Given the description of an element on the screen output the (x, y) to click on. 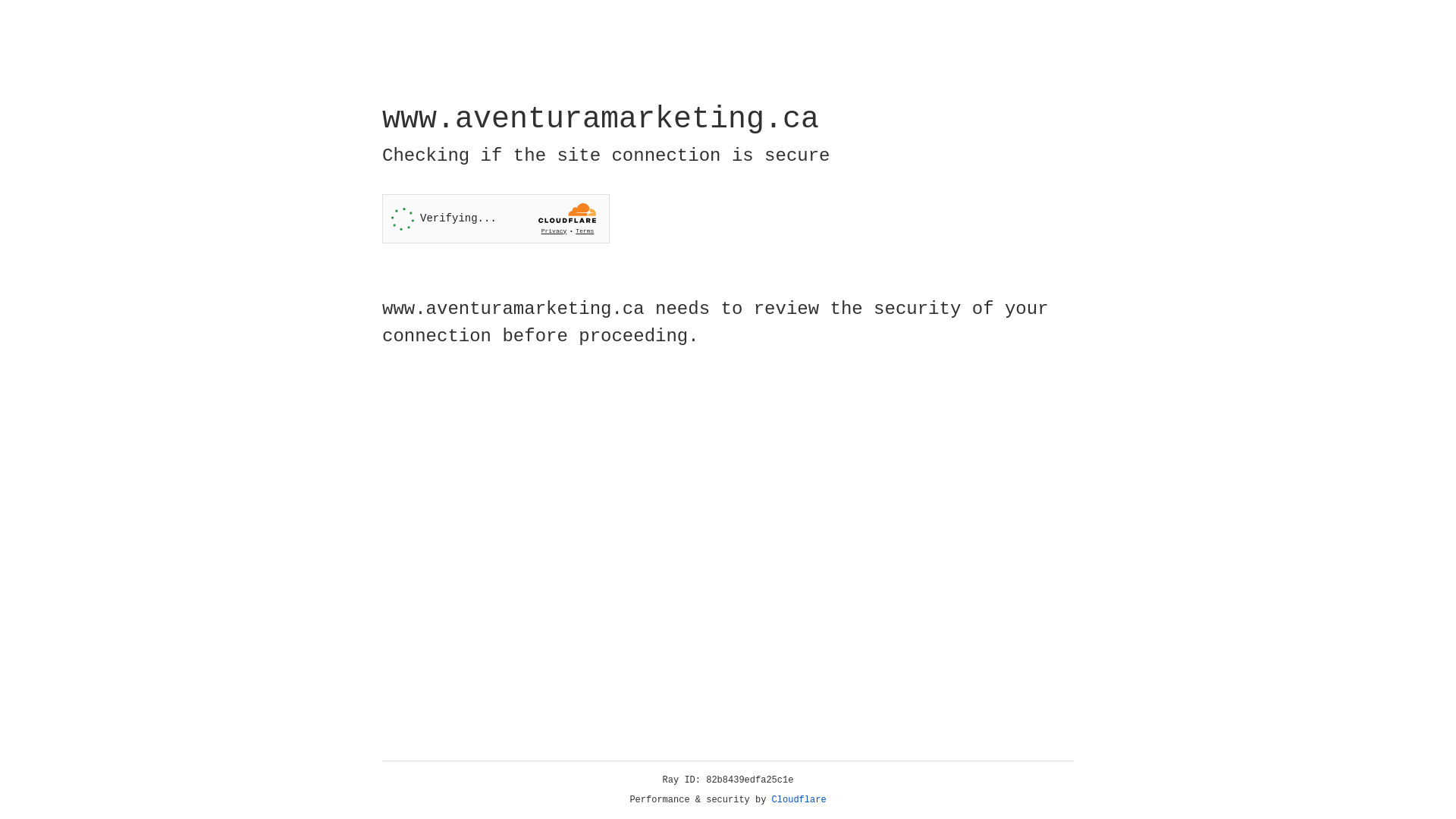
Widget containing a Cloudflare security challenge Element type: hover (495, 218)
Cloudflare Element type: text (798, 799)
